Given the description of an element on the screen output the (x, y) to click on. 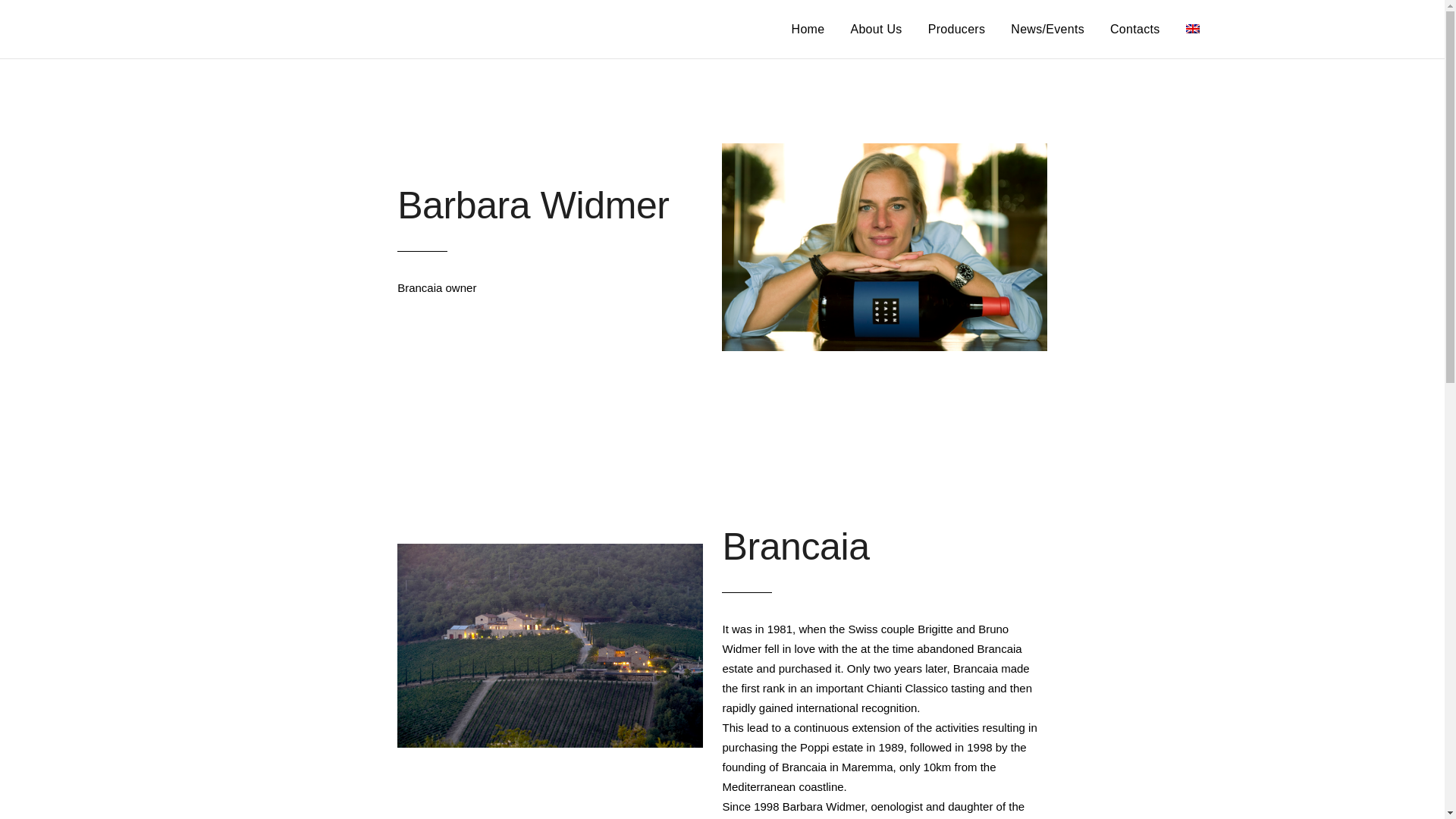
Home (808, 29)
Contacts (1135, 29)
About Us (875, 29)
Producers (956, 29)
